Given the description of an element on the screen output the (x, y) to click on. 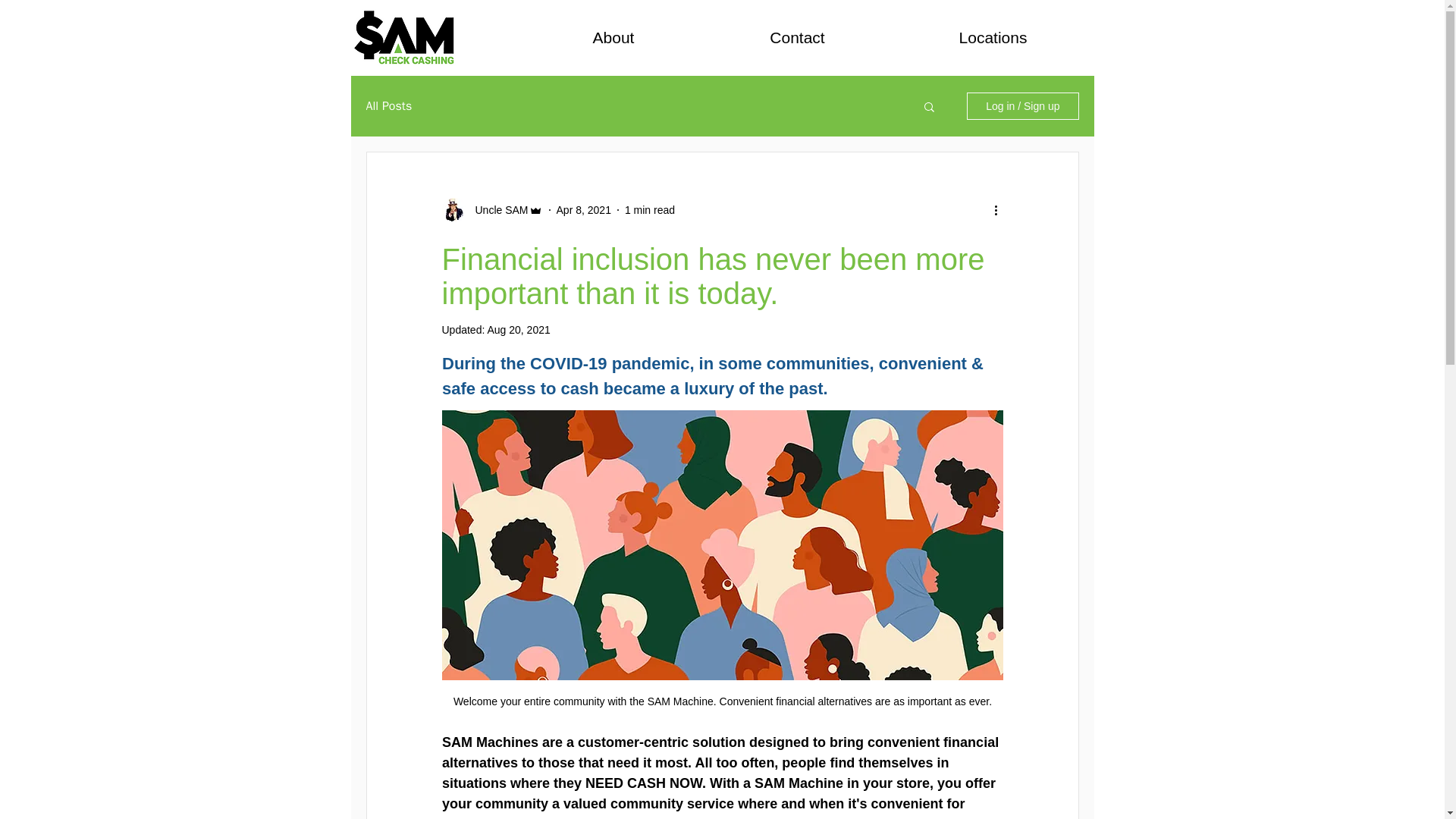
Uncle SAM (496, 209)
Apr 8, 2021 (583, 209)
Contact (796, 37)
All Posts (388, 106)
Locations (992, 37)
About (613, 37)
Aug 20, 2021 (518, 329)
1 min read (649, 209)
